Given the description of an element on the screen output the (x, y) to click on. 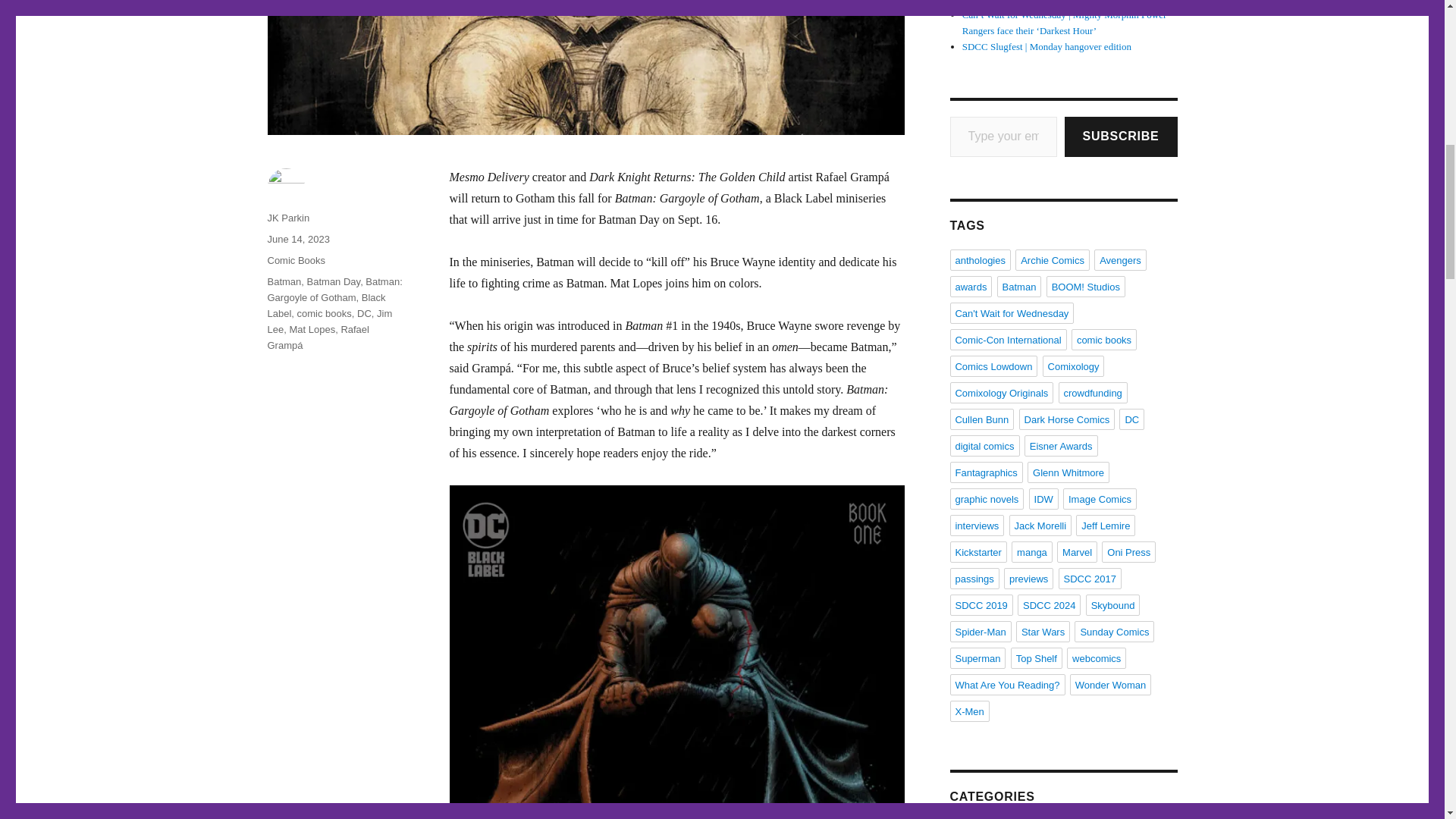
Jim Lee (328, 320)
Comic Books (295, 260)
Please fill in this field. (1003, 137)
comic books (324, 313)
Batman Day (334, 281)
Black Label (325, 305)
Mat Lopes (311, 328)
Batman: Gargoyle of Gotham (333, 289)
DC (363, 313)
June 14, 2023 (297, 238)
